Given the description of an element on the screen output the (x, y) to click on. 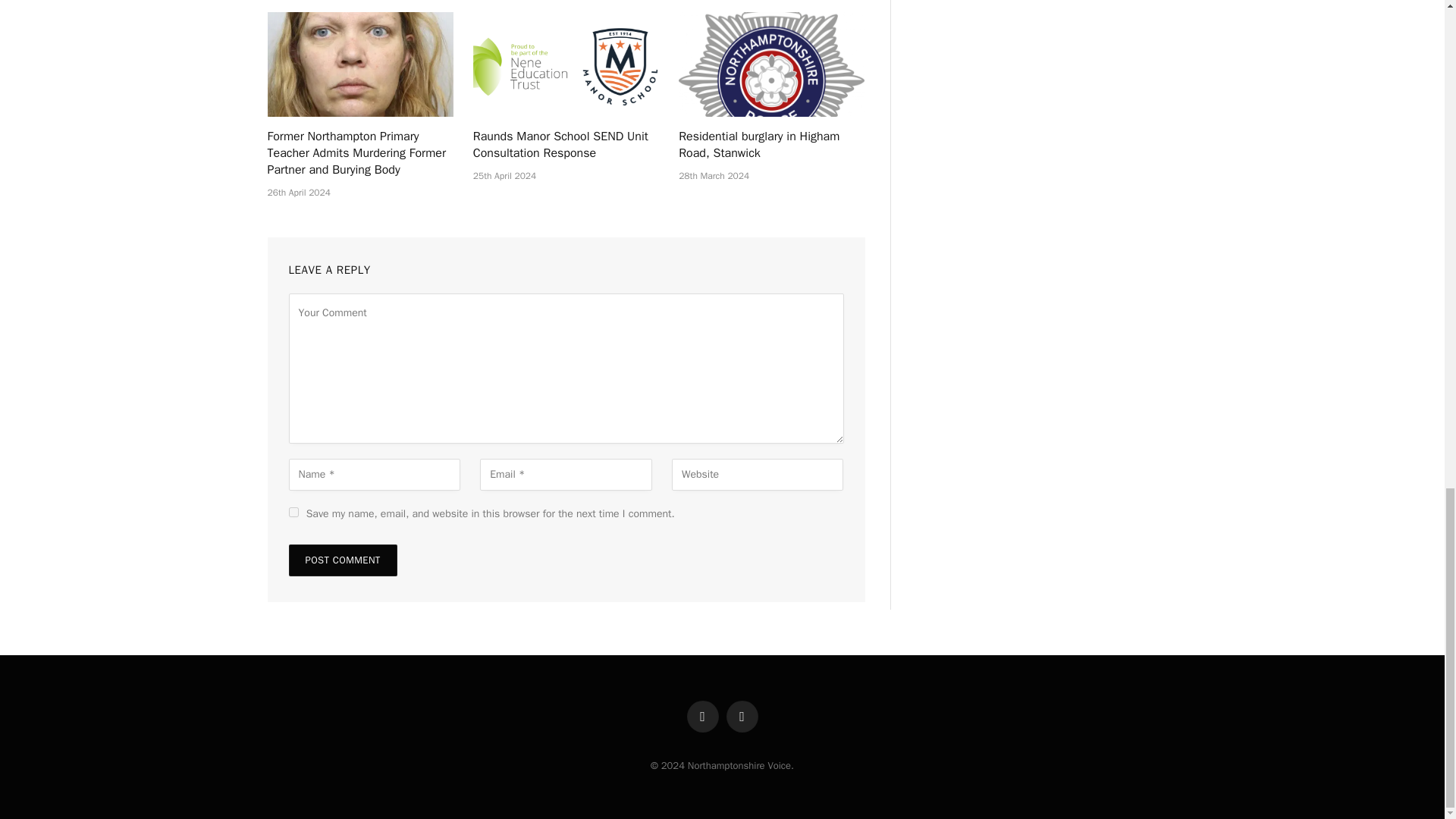
yes (293, 511)
Post Comment (342, 560)
